Given the description of an element on the screen output the (x, y) to click on. 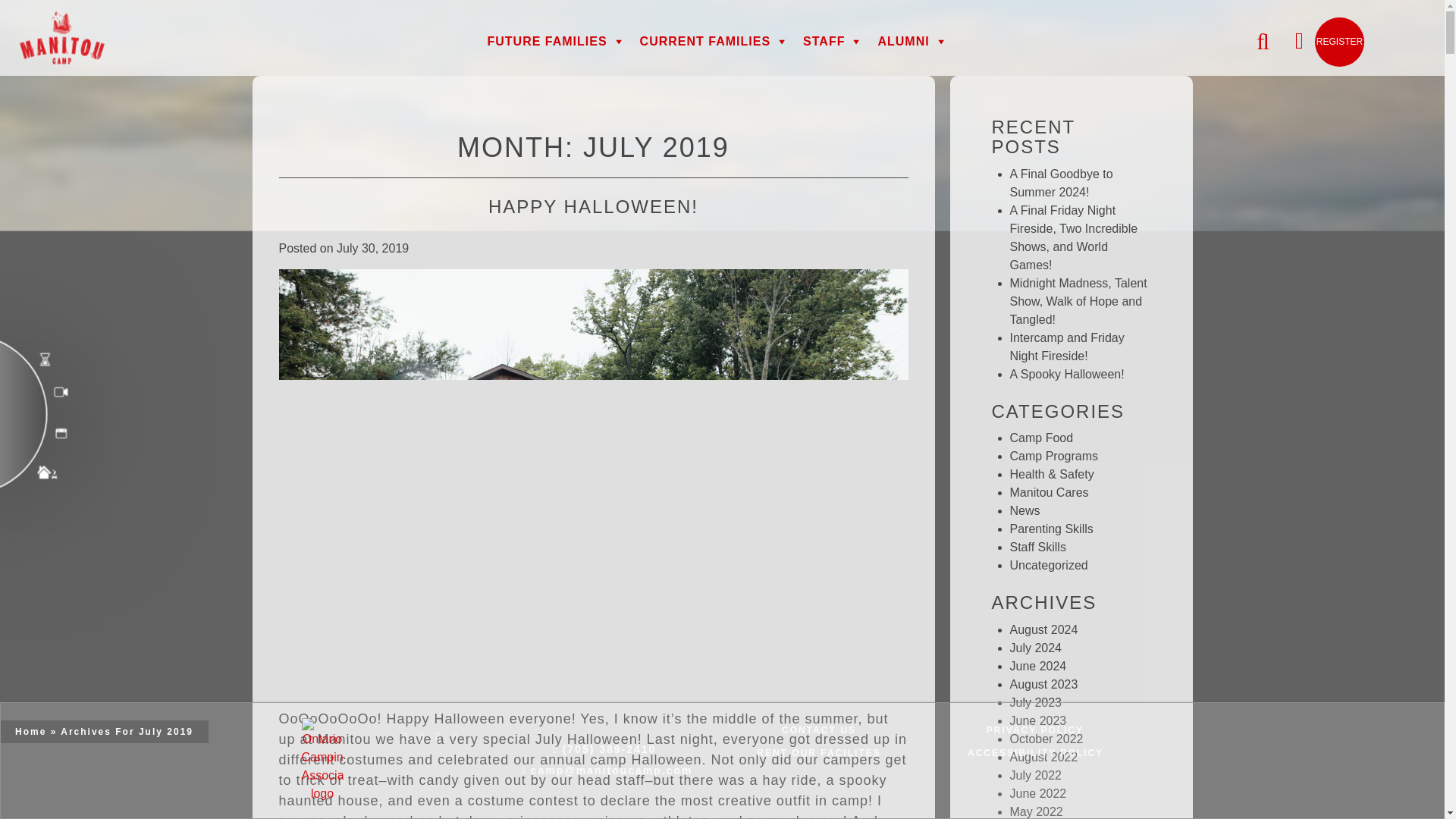
FUTURE FAMILIES (555, 41)
REGISTER (1339, 41)
CURRENT FAMILIES (712, 41)
